Given the description of an element on the screen output the (x, y) to click on. 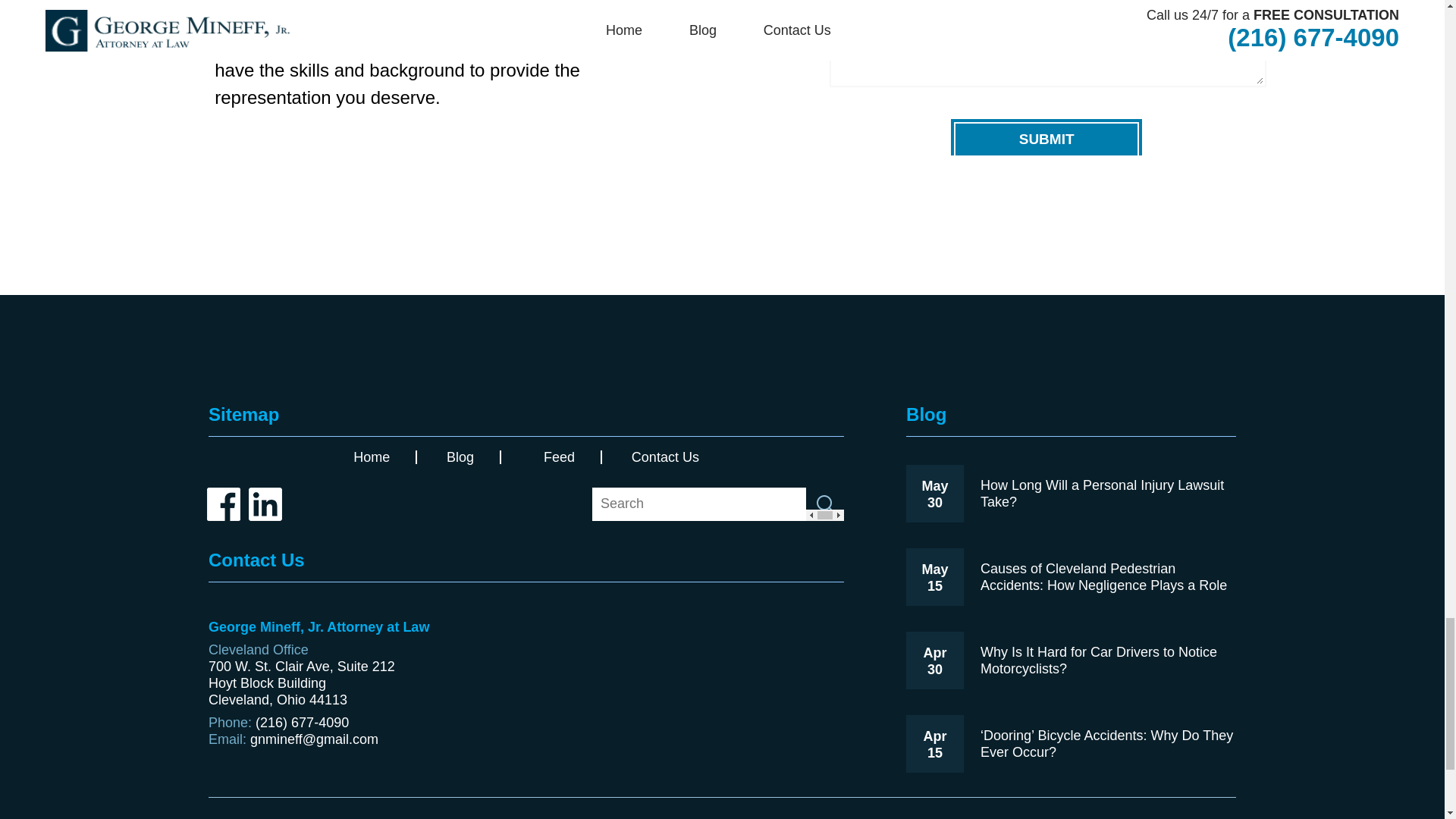
Submit (825, 503)
Submit (825, 503)
Submit (1045, 138)
Law Firm (720, 352)
Submit (1045, 138)
